Given the description of an element on the screen output the (x, y) to click on. 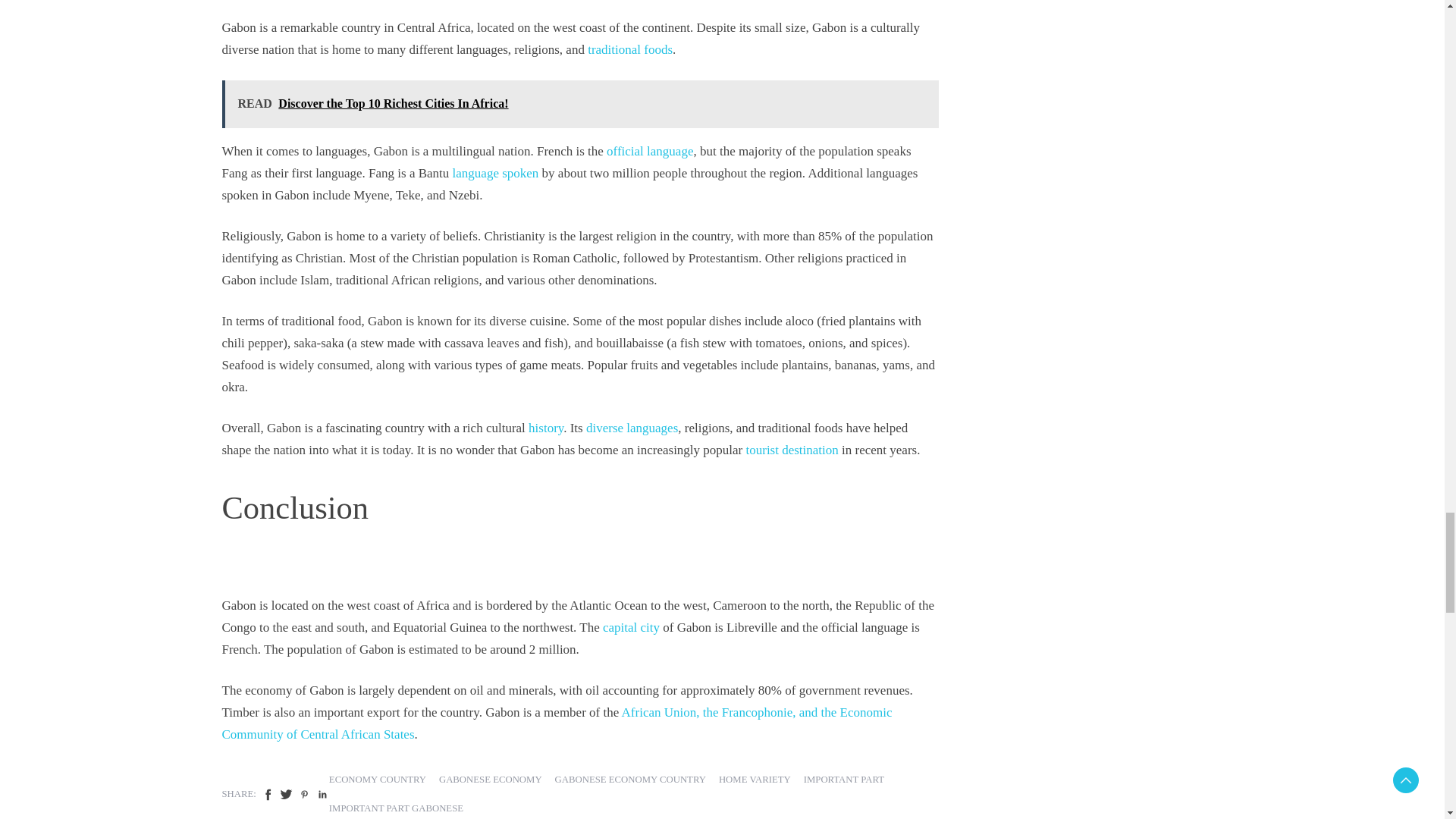
tourist destination (791, 450)
official language (650, 151)
READ  Discover the Top 10 Richest Cities In Africa! (579, 103)
language spoken (495, 173)
Discover The Most Spoken Language In Africa! (495, 173)
traditional foods (630, 49)
diverse languages (632, 427)
history (545, 427)
Taste the Rich History of Cape Malay Traditional Food (630, 49)
